Given the description of an element on the screen output the (x, y) to click on. 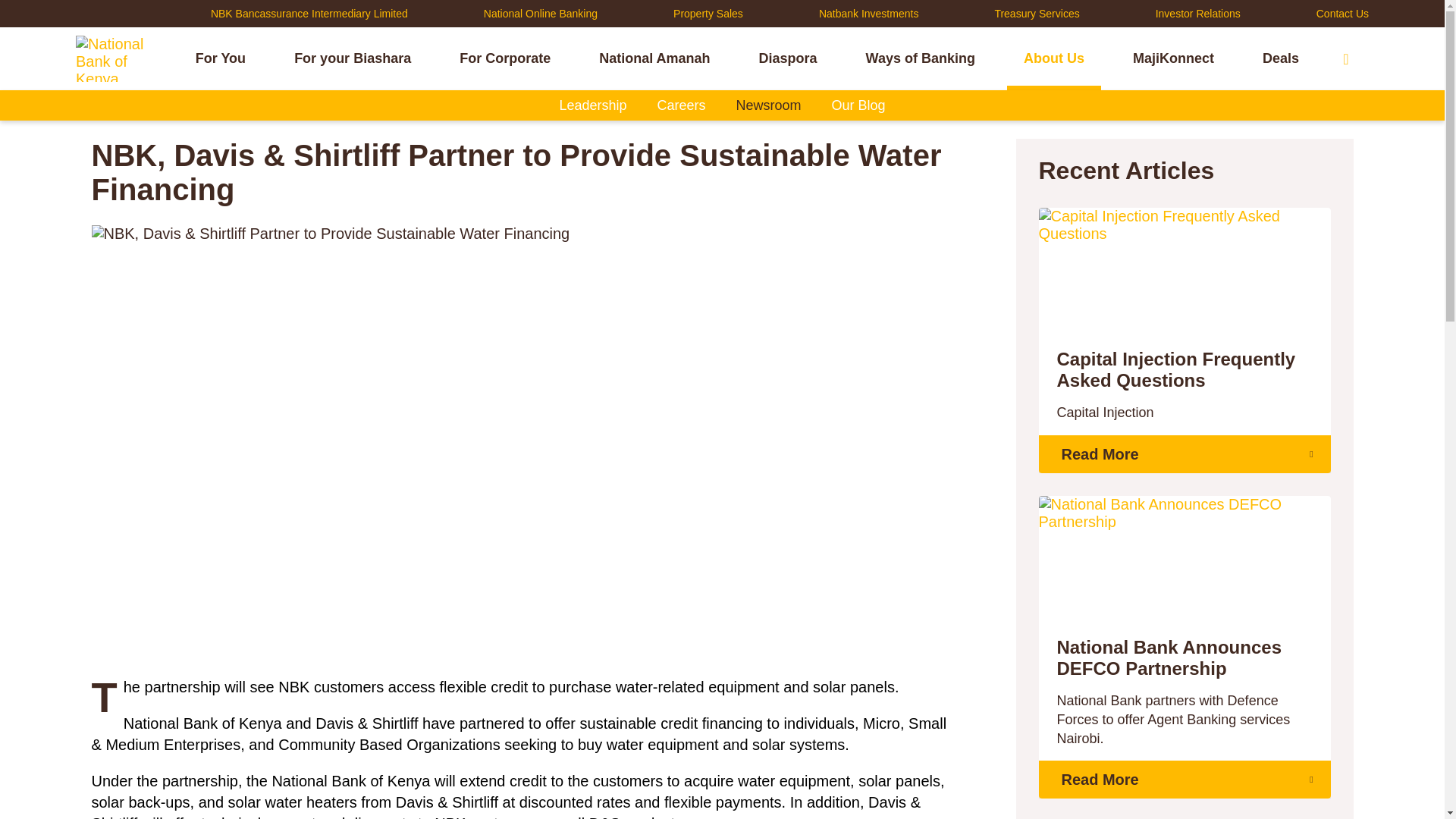
National Bank Announces DEFCO Partnership (1185, 658)
For your Biashara (352, 58)
About Us (1053, 58)
Deals (1281, 58)
Ways of Banking (919, 58)
Capital Injection Frequently Asked Questions (1185, 369)
National Amanah (654, 58)
Diaspora (788, 58)
For Corporate (505, 58)
For You (220, 58)
